Given the description of an element on the screen output the (x, y) to click on. 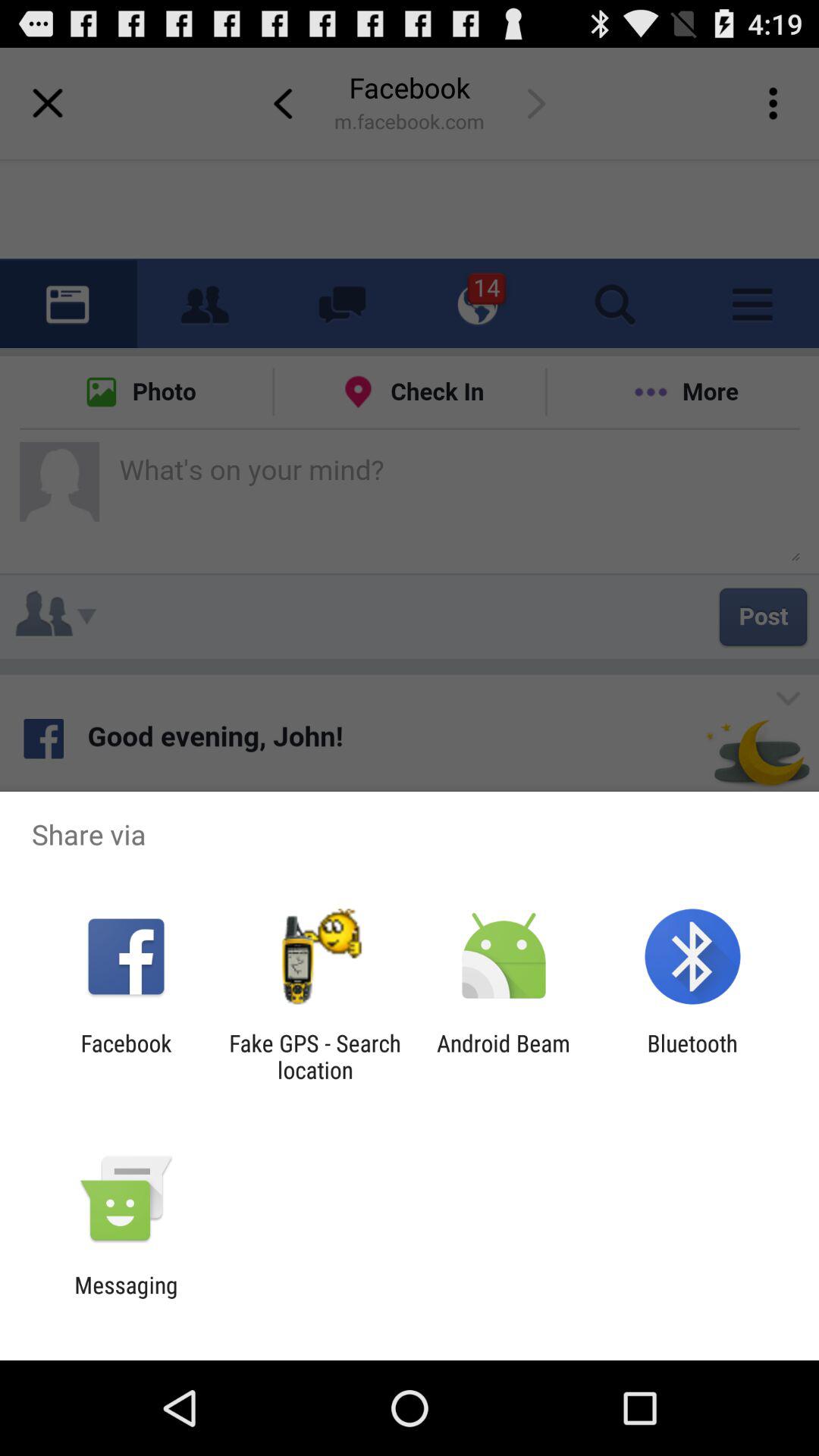
turn off app to the left of fake gps search app (125, 1056)
